Given the description of an element on the screen output the (x, y) to click on. 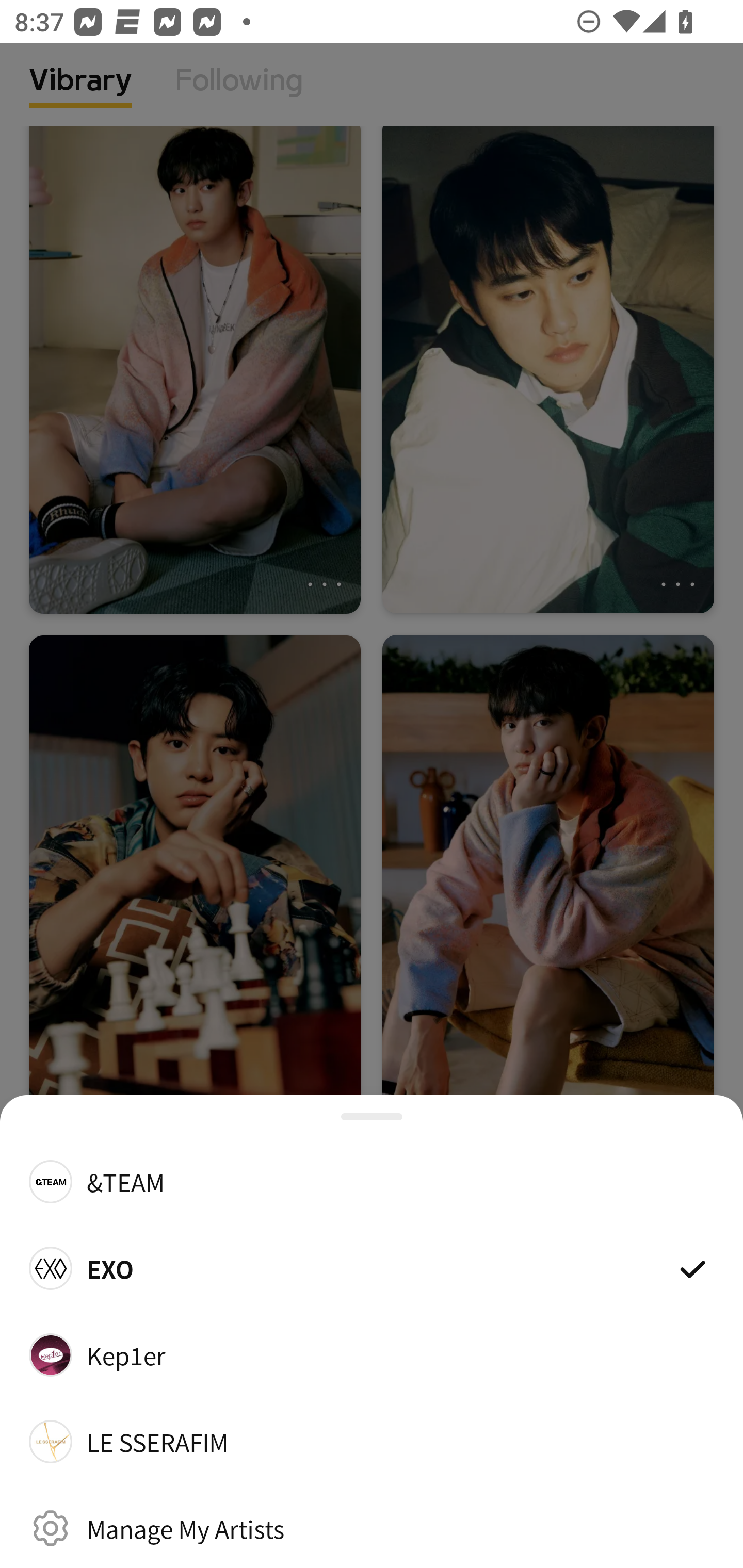
&TEAM (371, 1181)
EXO (371, 1268)
Kep1er (371, 1354)
LE SSERAFIM (371, 1441)
Manage My Artists (371, 1527)
